Given the description of an element on the screen output the (x, y) to click on. 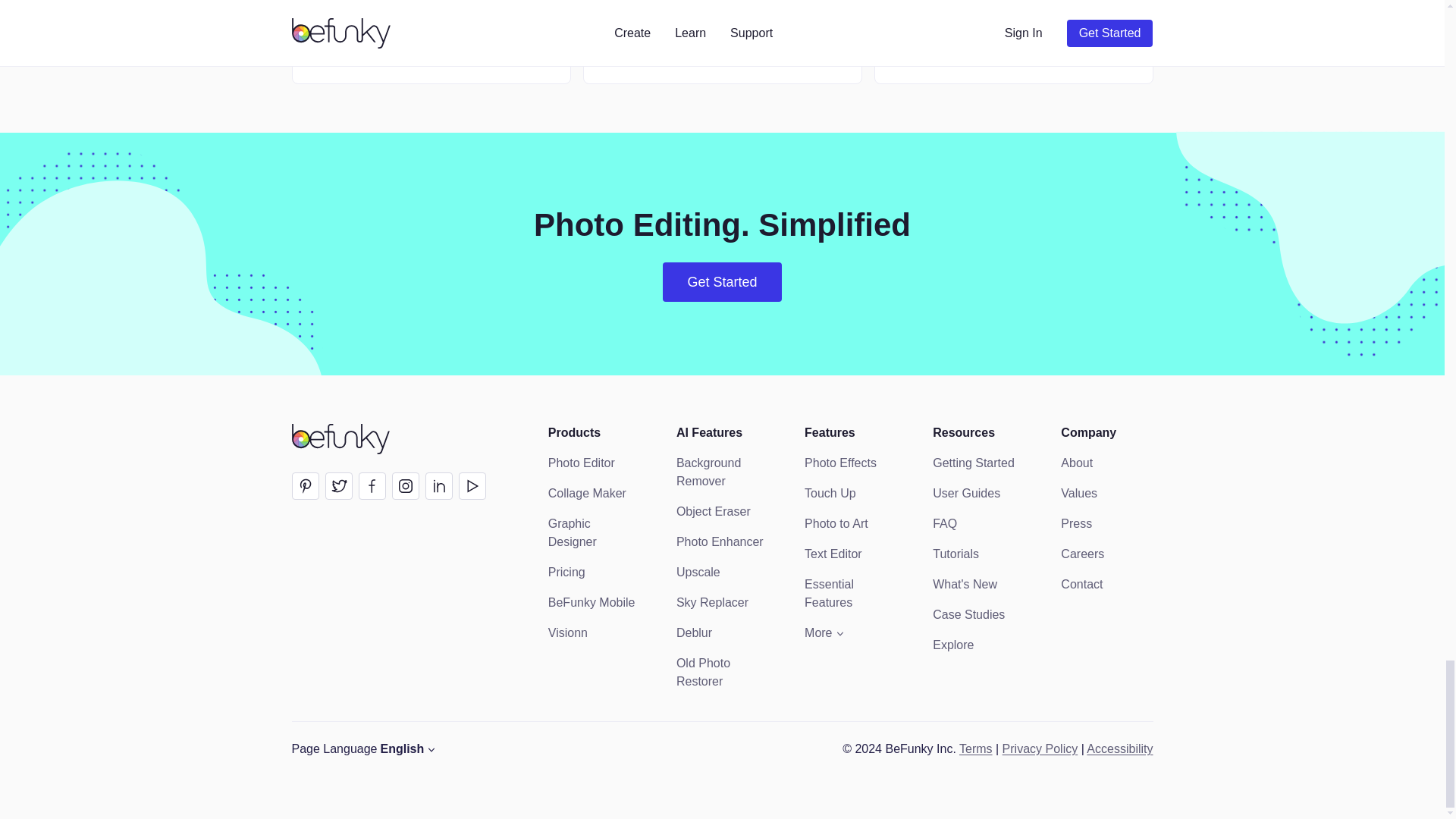
BeFunky on Pinterest (304, 485)
BeFunky on LinkedIn (438, 485)
BeFunky on Facebook (371, 485)
BeFunky on Twitter (338, 485)
BeFunky on YouTube (471, 485)
BeFunky on Instagram (405, 485)
